Given the description of an element on the screen output the (x, y) to click on. 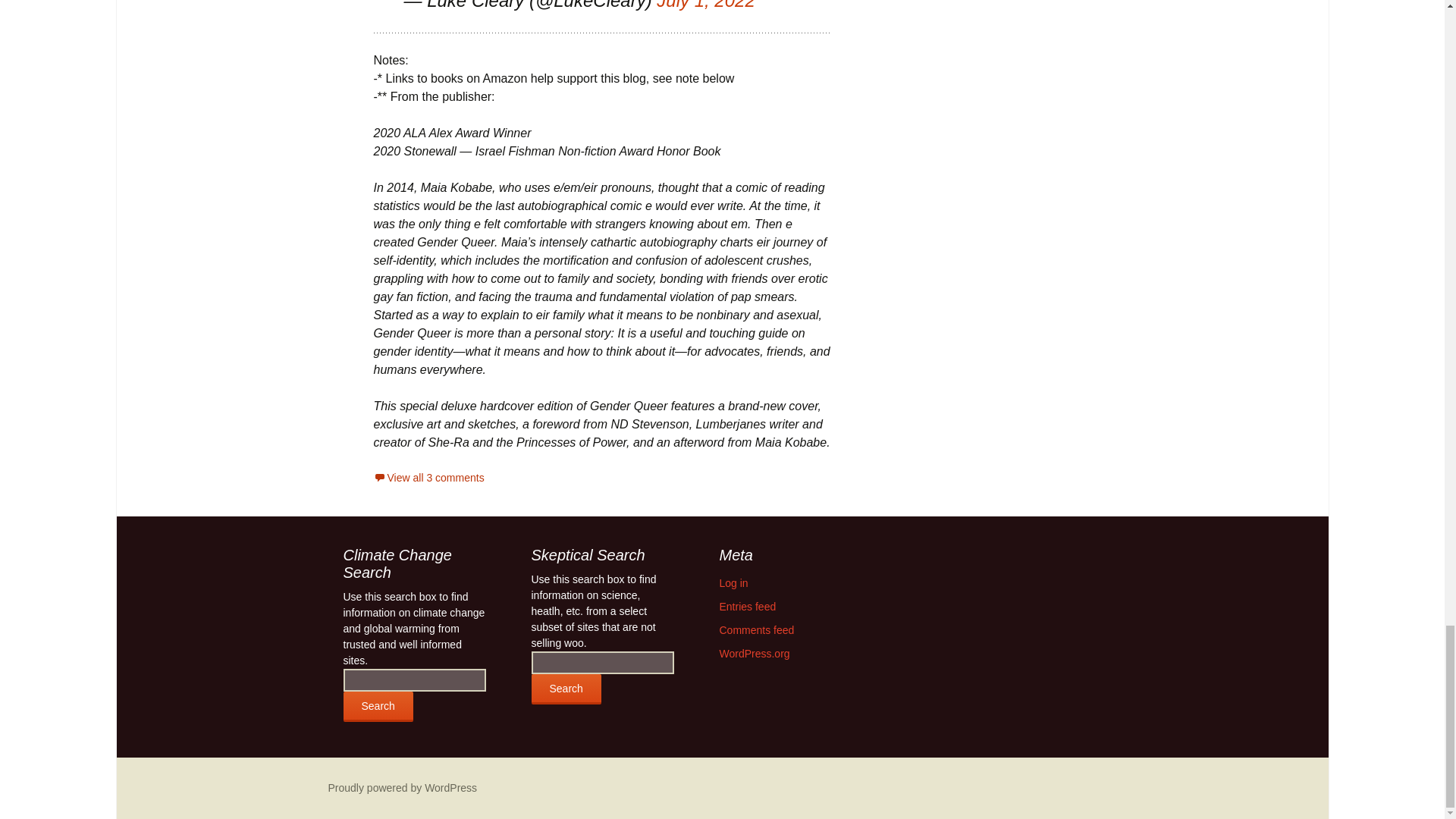
July 1, 2022 (705, 5)
Search (377, 706)
Search (565, 689)
View all 3 comments (427, 477)
